Given the description of an element on the screen output the (x, y) to click on. 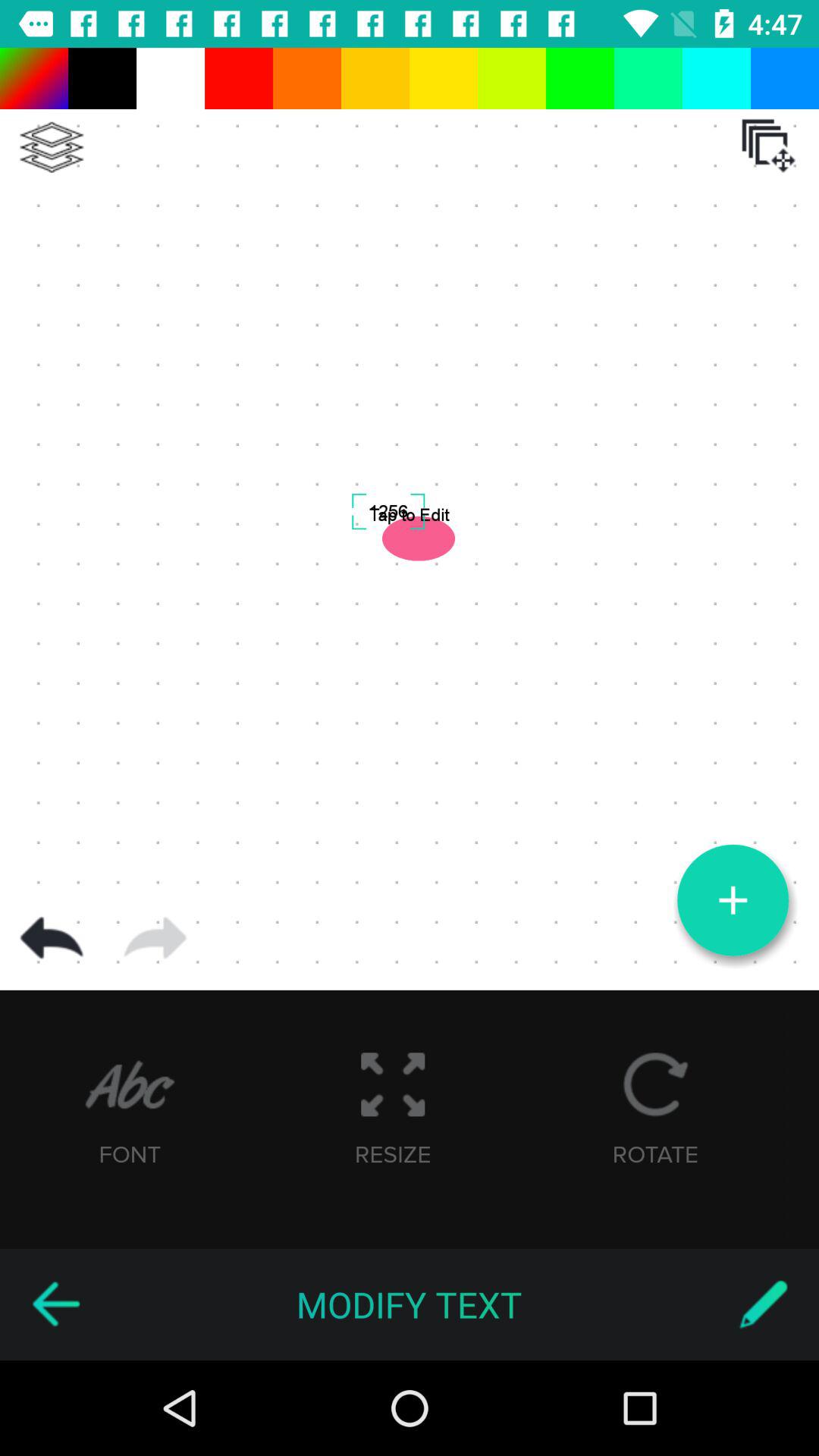
add a picture (733, 900)
